Given the description of an element on the screen output the (x, y) to click on. 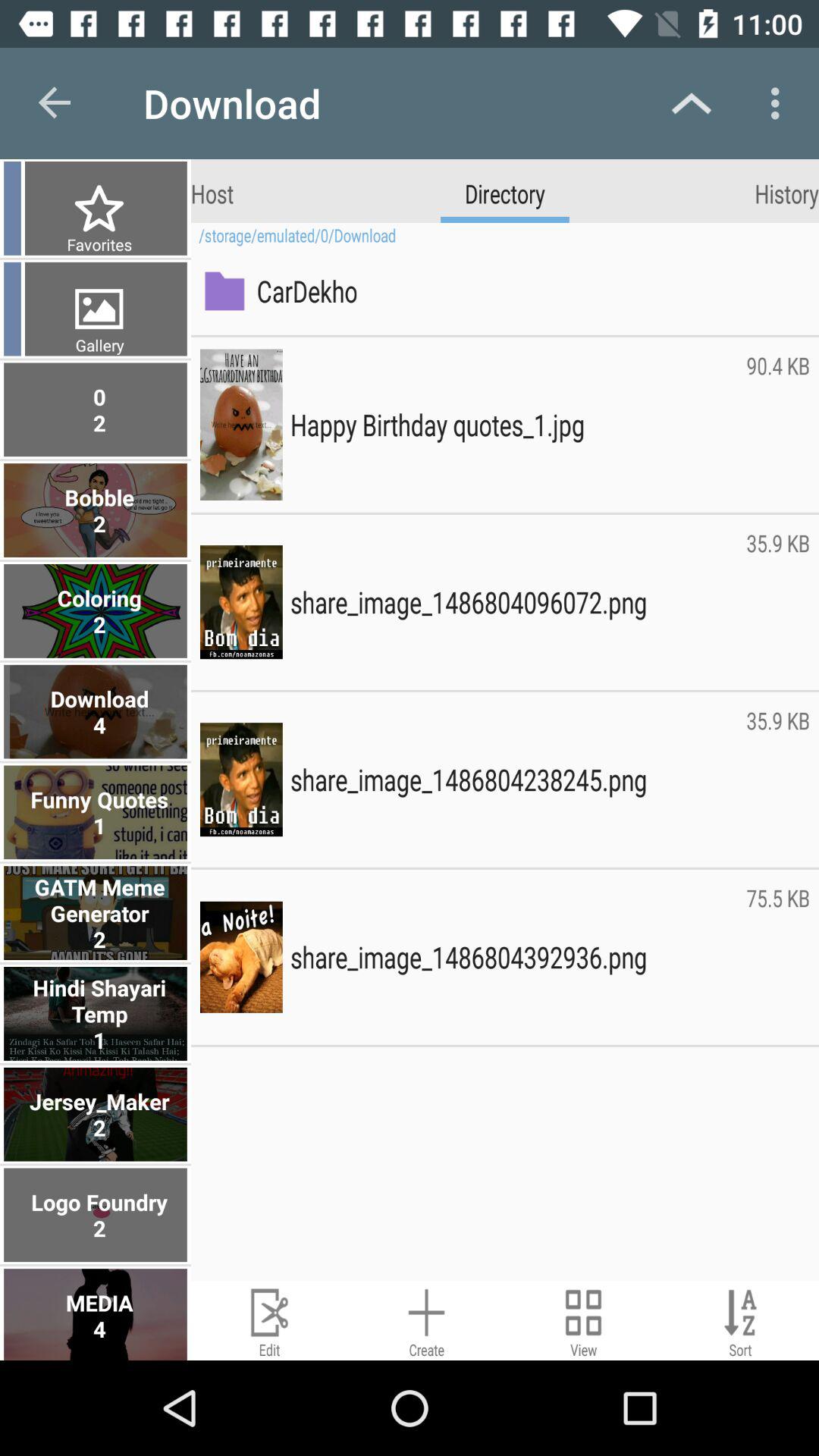
create a new picture (426, 1320)
